Given the description of an element on the screen output the (x, y) to click on. 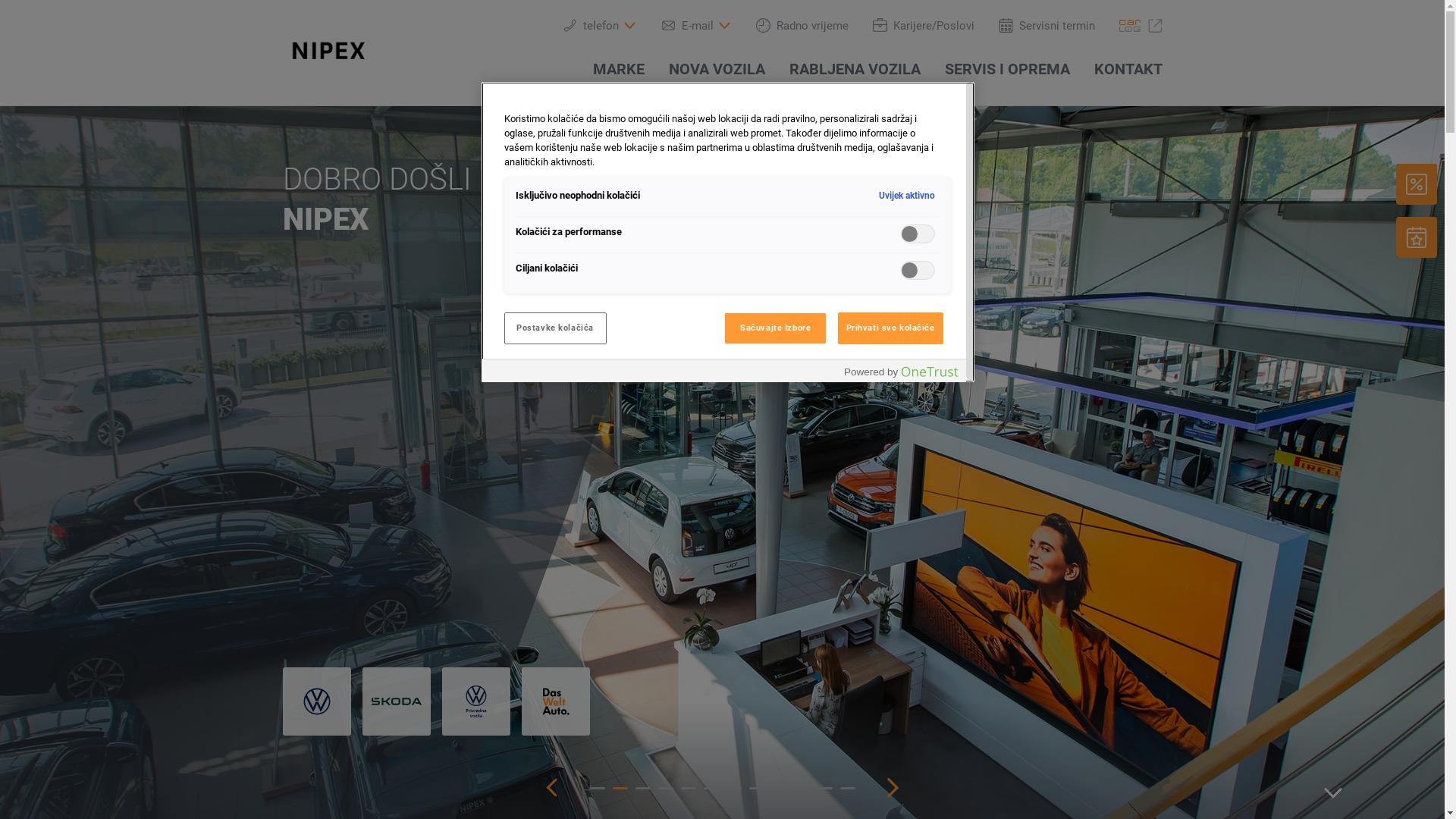
Radno vrijeme Element type: text (801, 25)
Servisni termin Element type: text (1045, 25)
telefon Element type: text (599, 25)
E-mail Element type: text (696, 25)
Karijere/Poslovi Element type: text (922, 25)
NIPEX Element type: hover (329, 50)
